Given the description of an element on the screen output the (x, y) to click on. 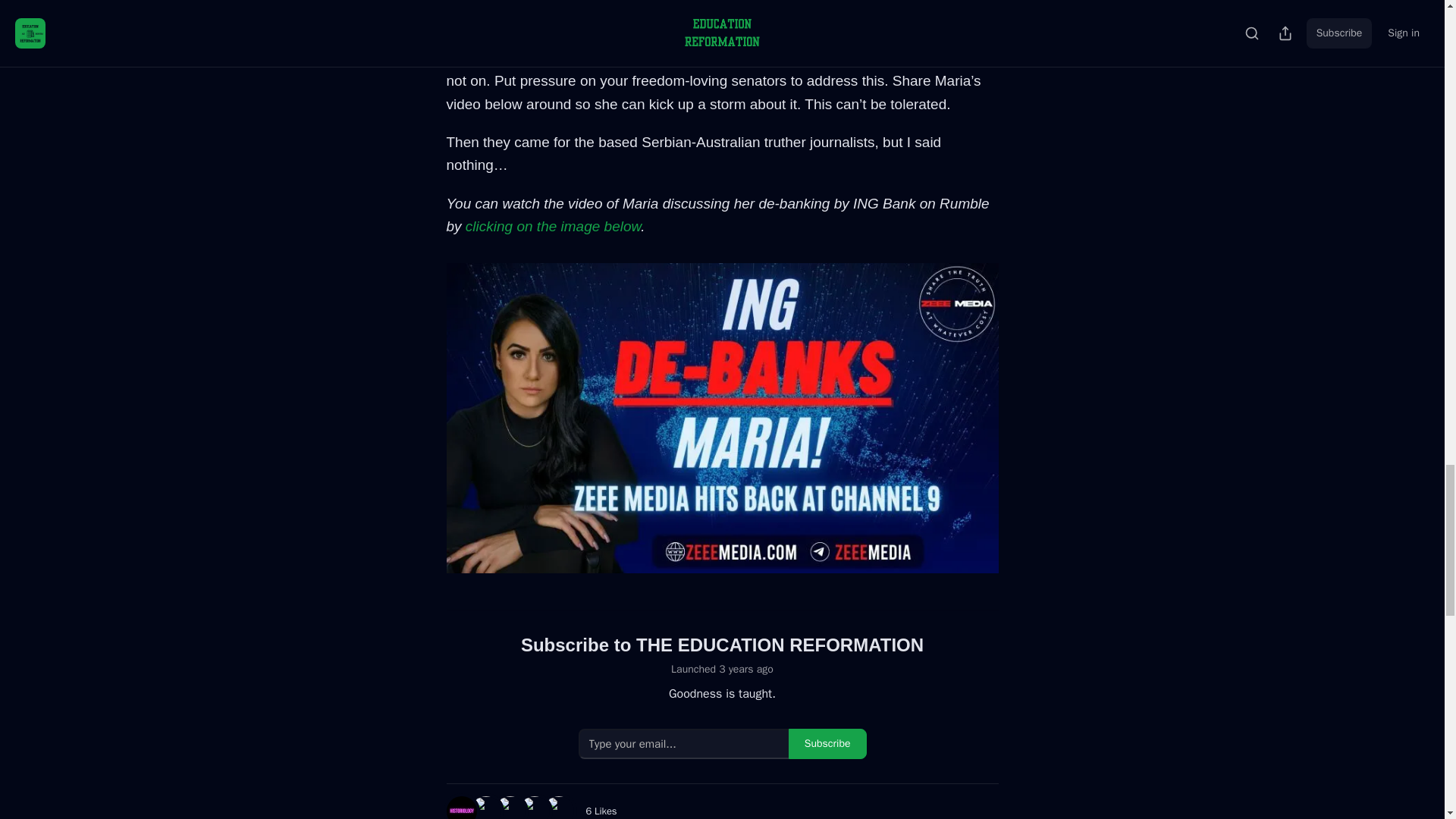
6 Likes (600, 810)
clicking on the image below (552, 226)
Subscribe (827, 743)
